Given the description of an element on the screen output the (x, y) to click on. 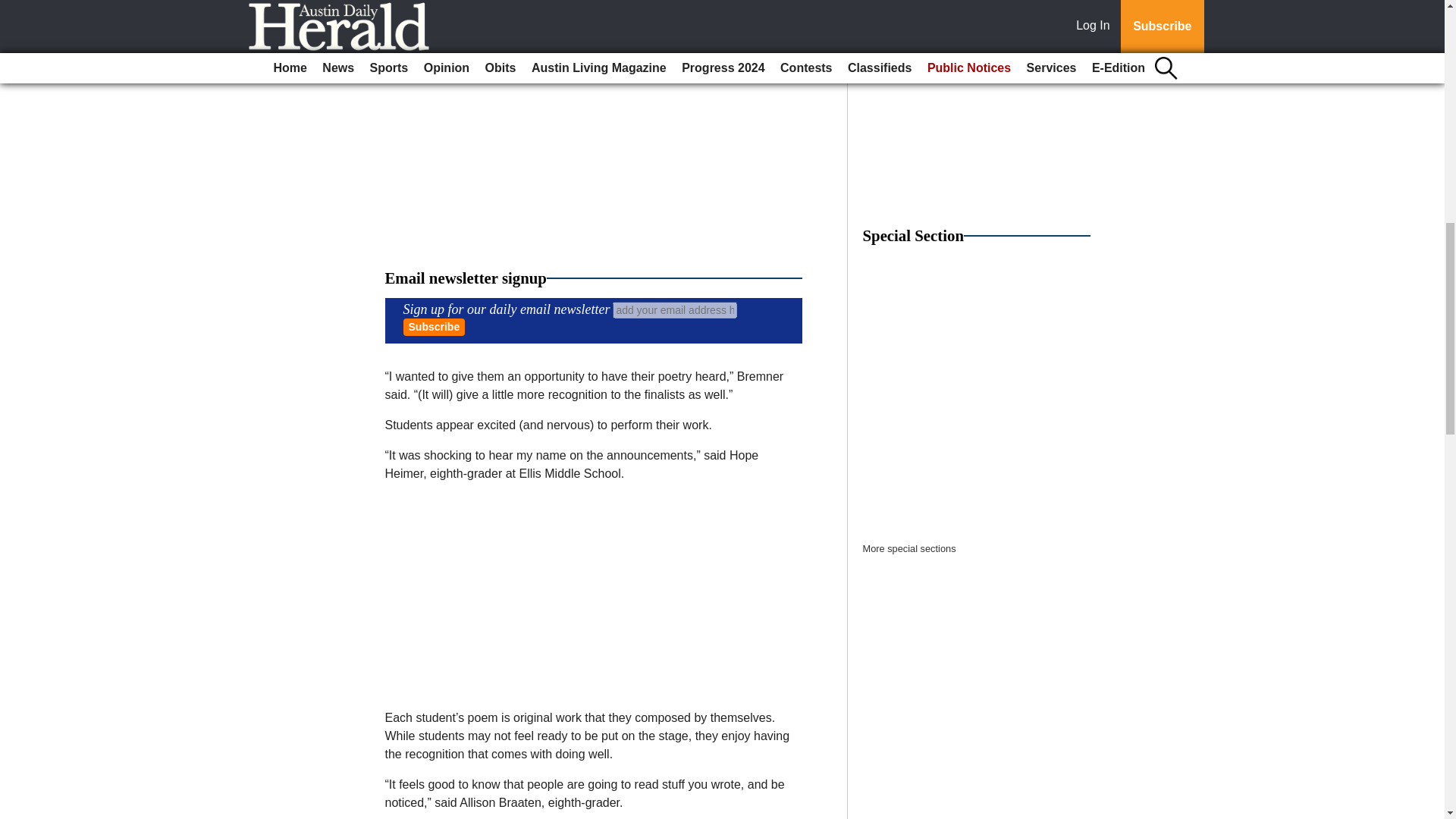
Subscribe (434, 326)
